Given the description of an element on the screen output the (x, y) to click on. 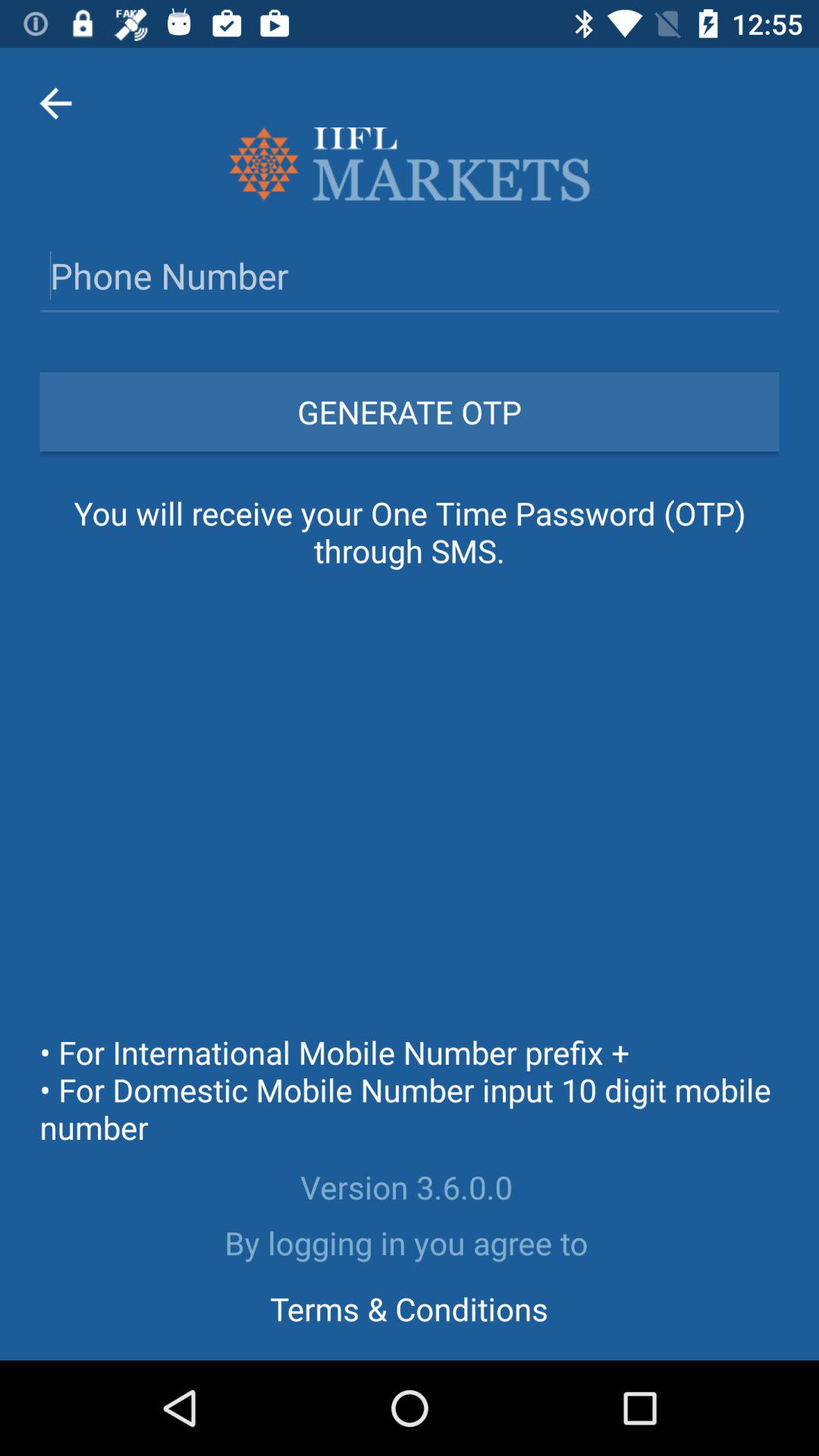
press item below for international mobile item (409, 1186)
